Given the description of an element on the screen output the (x, y) to click on. 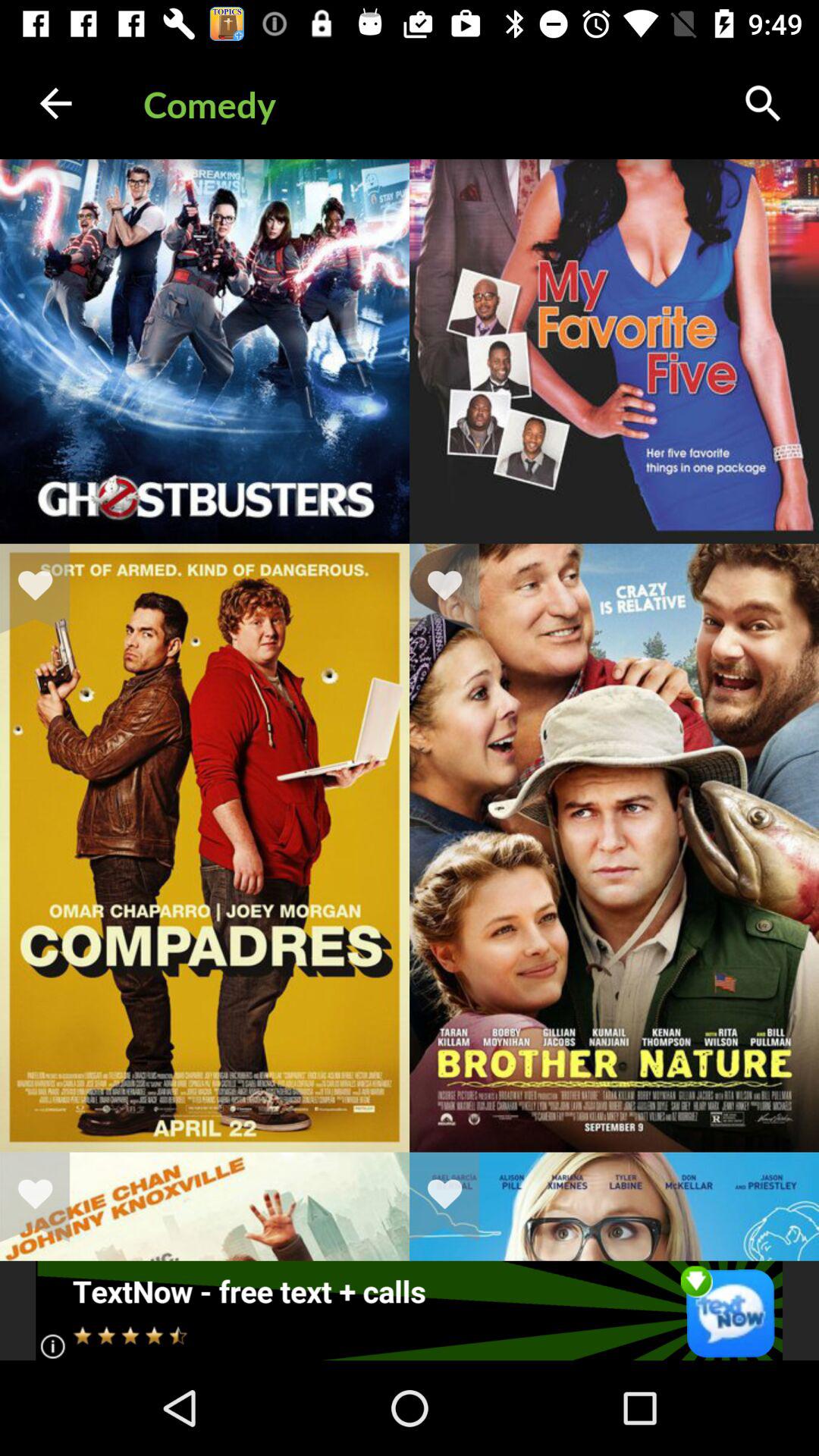
favorite (44, 588)
